Given the description of an element on the screen output the (x, y) to click on. 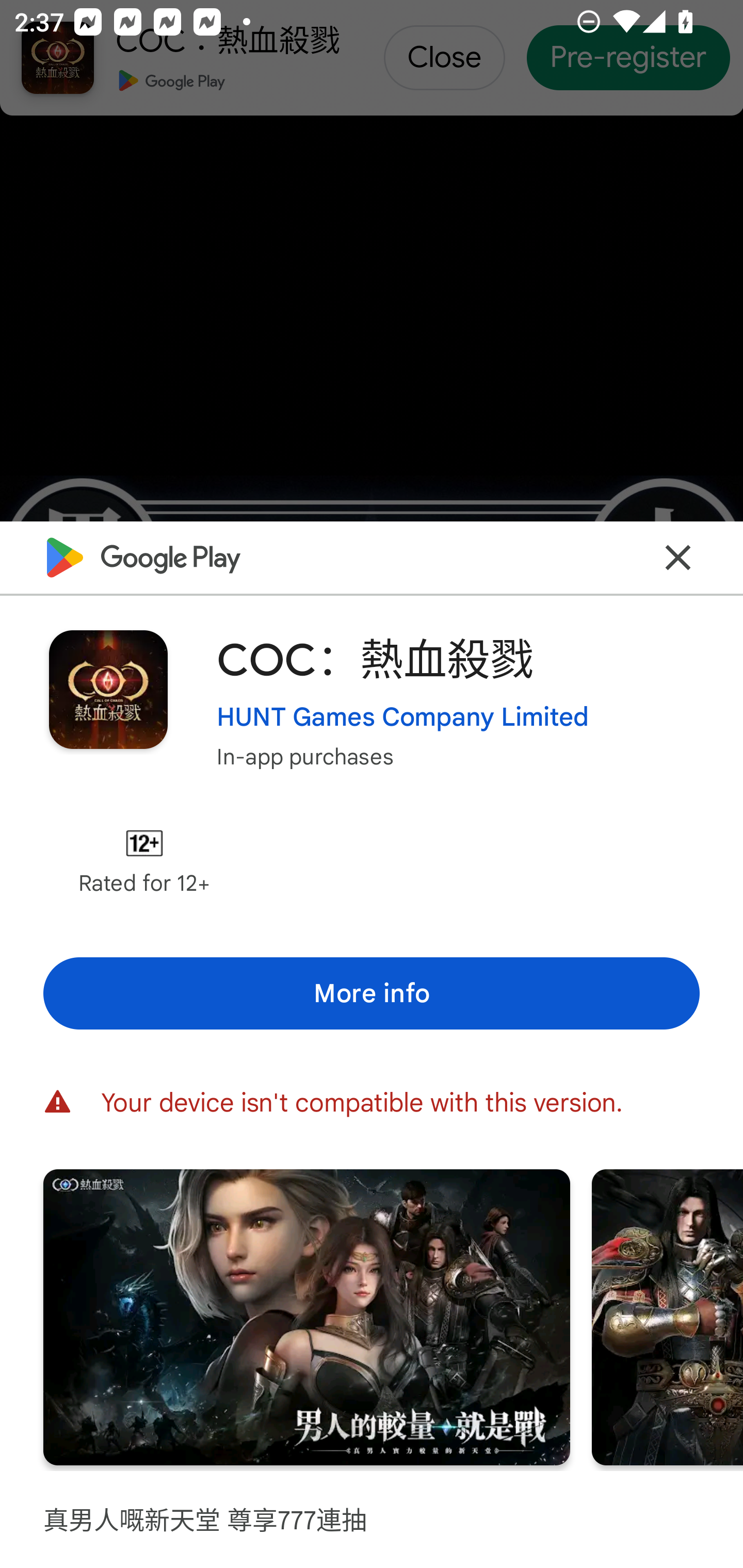
Close (677, 558)
Image of app or game icon for COC：熱血殺戮 (108, 689)
HUNT Games Company Limited (402, 716)
More info (371, 994)
Screenshot "1" of "8" (306, 1317)
